Given the description of an element on the screen output the (x, y) to click on. 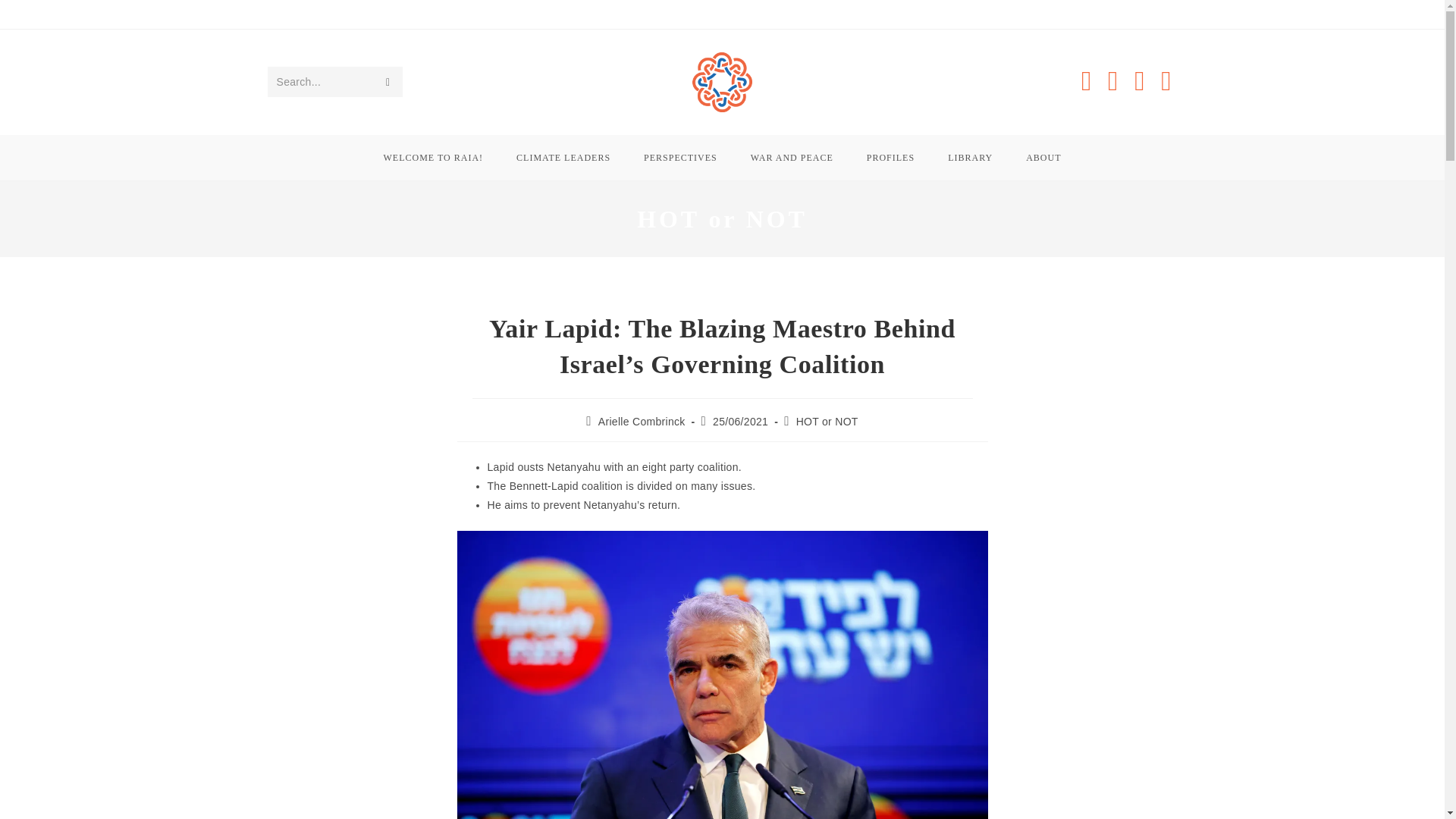
Submit search (386, 81)
PERSPECTIVES (680, 157)
HOT or NOT (827, 421)
Posts by Arielle Combrinck (641, 421)
WAR AND PEACE (791, 157)
WELCOME TO RAIA! (433, 157)
Arielle Combrinck (641, 421)
PROFILES (890, 157)
CLIMATE LEADERS (563, 157)
ABOUT (1043, 157)
LIBRARY (970, 157)
